Given the description of an element on the screen output the (x, y) to click on. 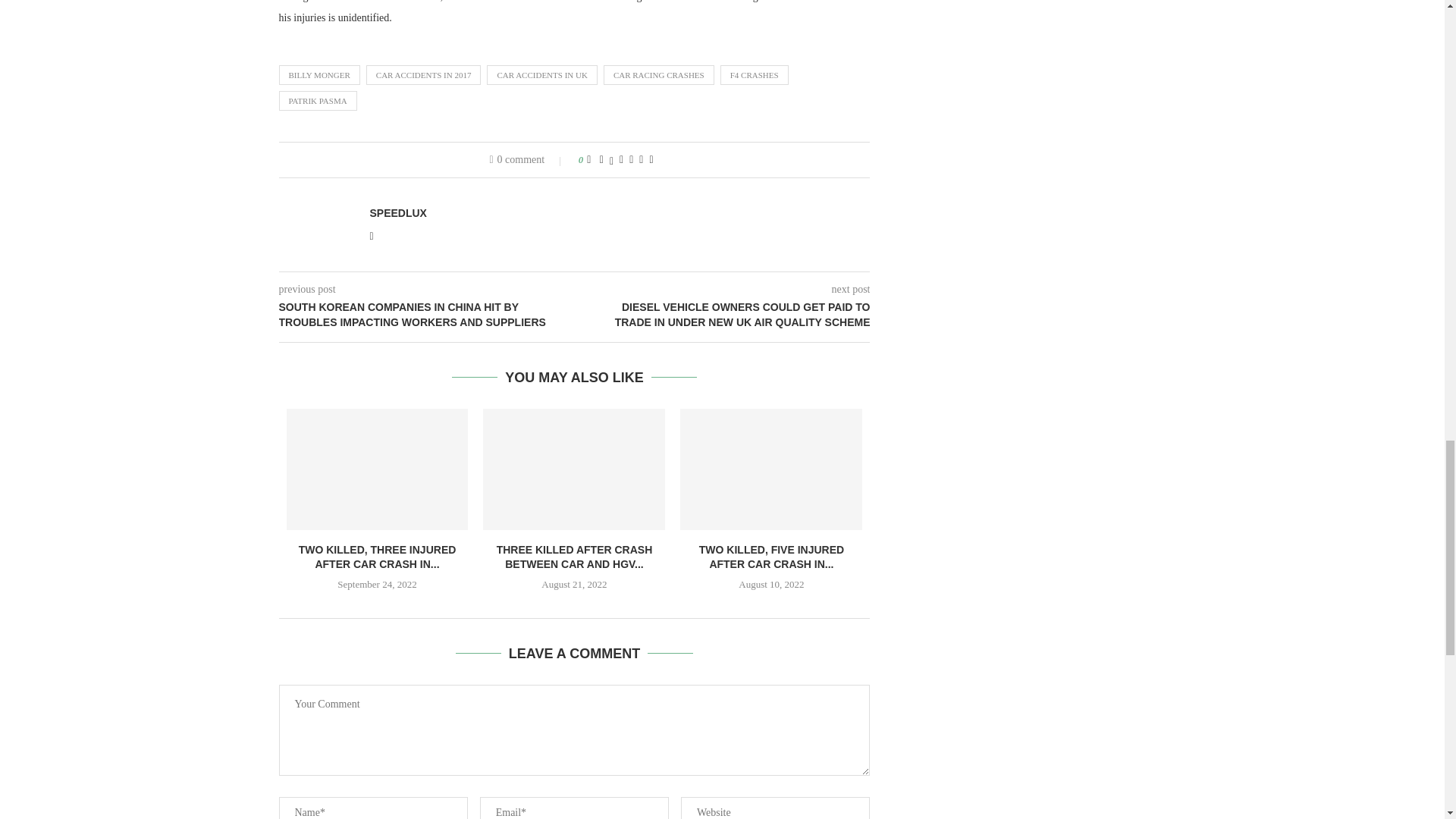
F4 CRASHES (754, 75)
CAR ACCIDENTS IN 2017 (423, 75)
BILLY MONGER (319, 75)
TWO KILLED, THREE INJURED AFTER CAR CRASH IN... (377, 556)
SPEEDLUX (397, 213)
CAR ACCIDENTS IN UK (541, 75)
Two killed, three injured after car crash in Nottinghamshire (377, 468)
